Given the description of an element on the screen output the (x, y) to click on. 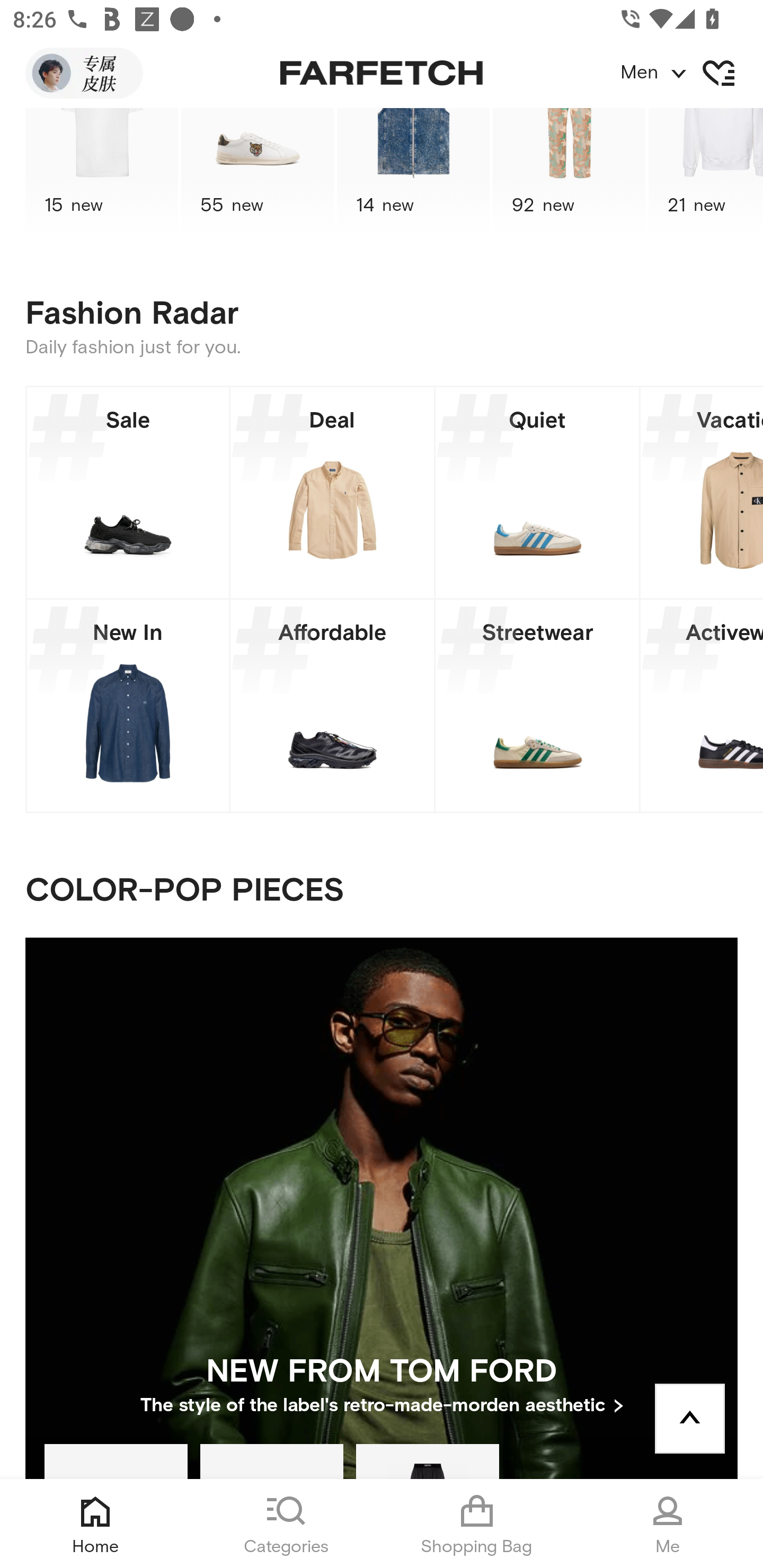
Men (691, 72)
Philipp Plein 15  new (101, 172)
Polo Ralph Lauren 55  new (257, 172)
Diesel 14  new (413, 172)
Acne Studios 92  new (568, 172)
Stone Island 21  new (705, 172)
Sale (127, 492)
Deal (332, 492)
Quiet (537, 492)
Vacation (701, 492)
New In (127, 705)
Affordable (332, 705)
Streetwear (537, 705)
Activewear (701, 705)
Categories (285, 1523)
Shopping Bag (476, 1523)
Me (667, 1523)
